Given the description of an element on the screen output the (x, y) to click on. 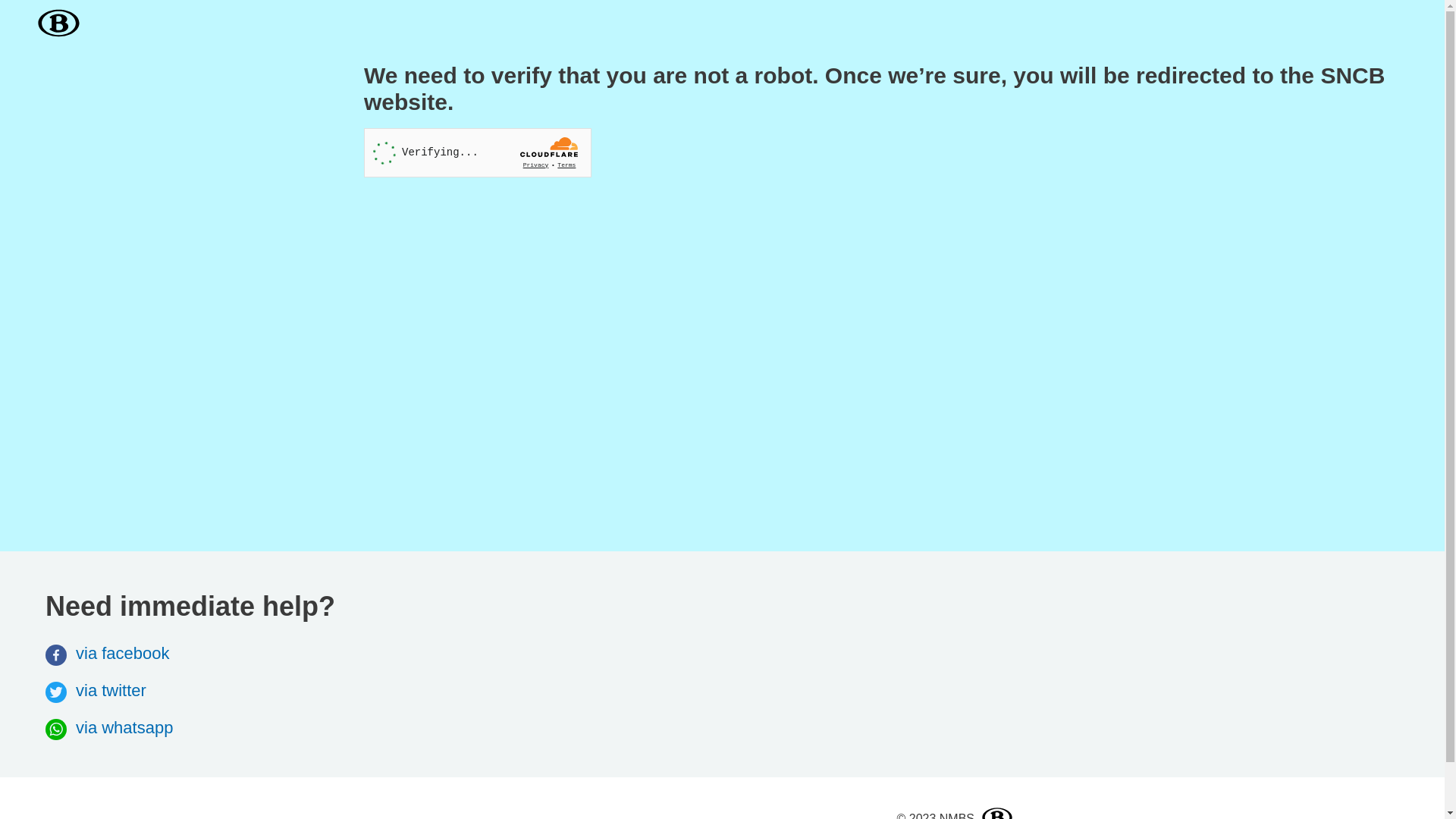
Home NMBS Element type: text (62, 24)
Widget containing a Cloudflare security challenge Element type: hover (477, 152)
via whatsapp Element type: text (108, 727)
via twitter Element type: text (95, 689)
via facebook Element type: text (107, 652)
